Given the description of an element on the screen output the (x, y) to click on. 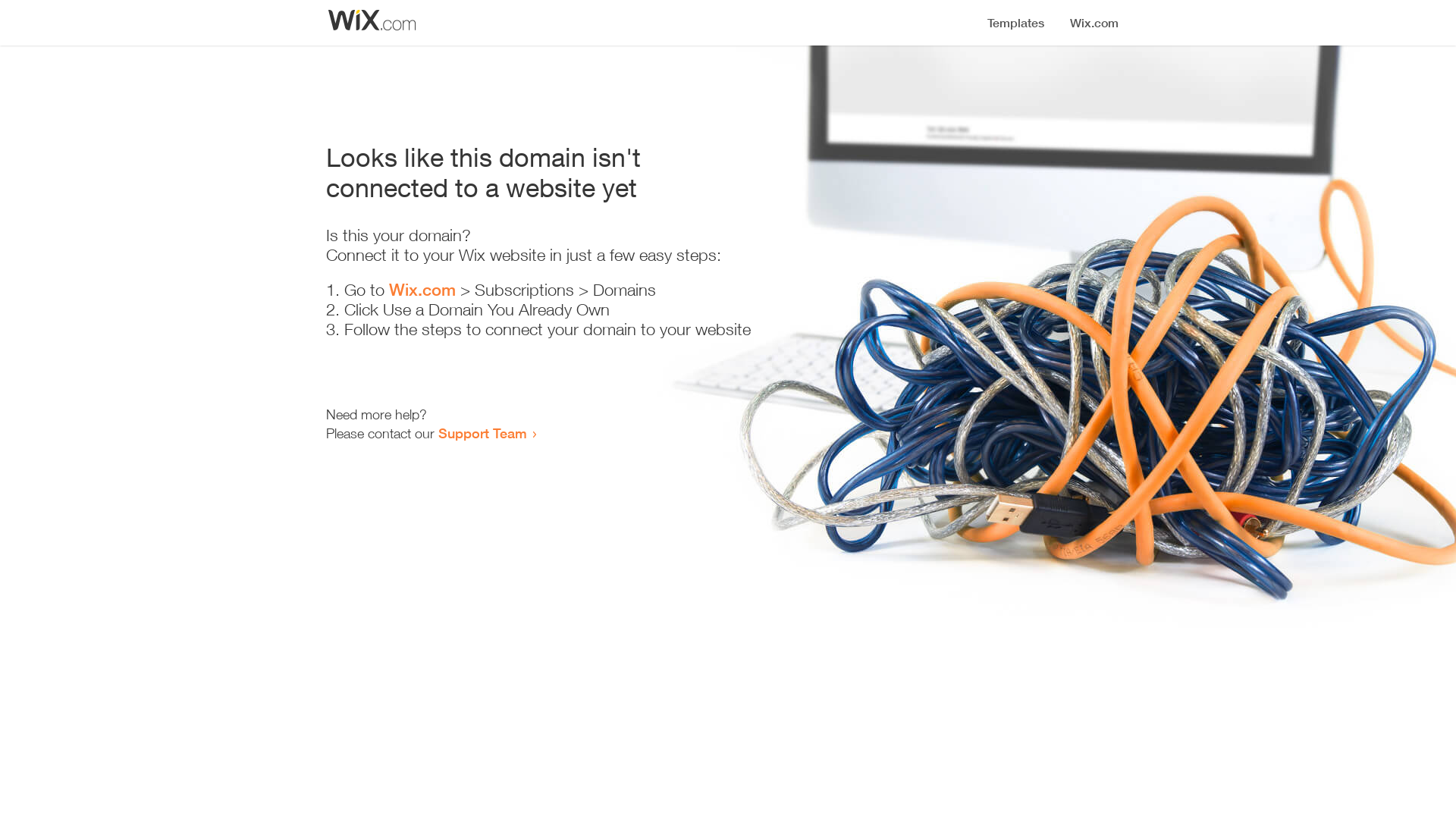
Support Team Element type: text (482, 432)
Wix.com Element type: text (422, 289)
